Given the description of an element on the screen output the (x, y) to click on. 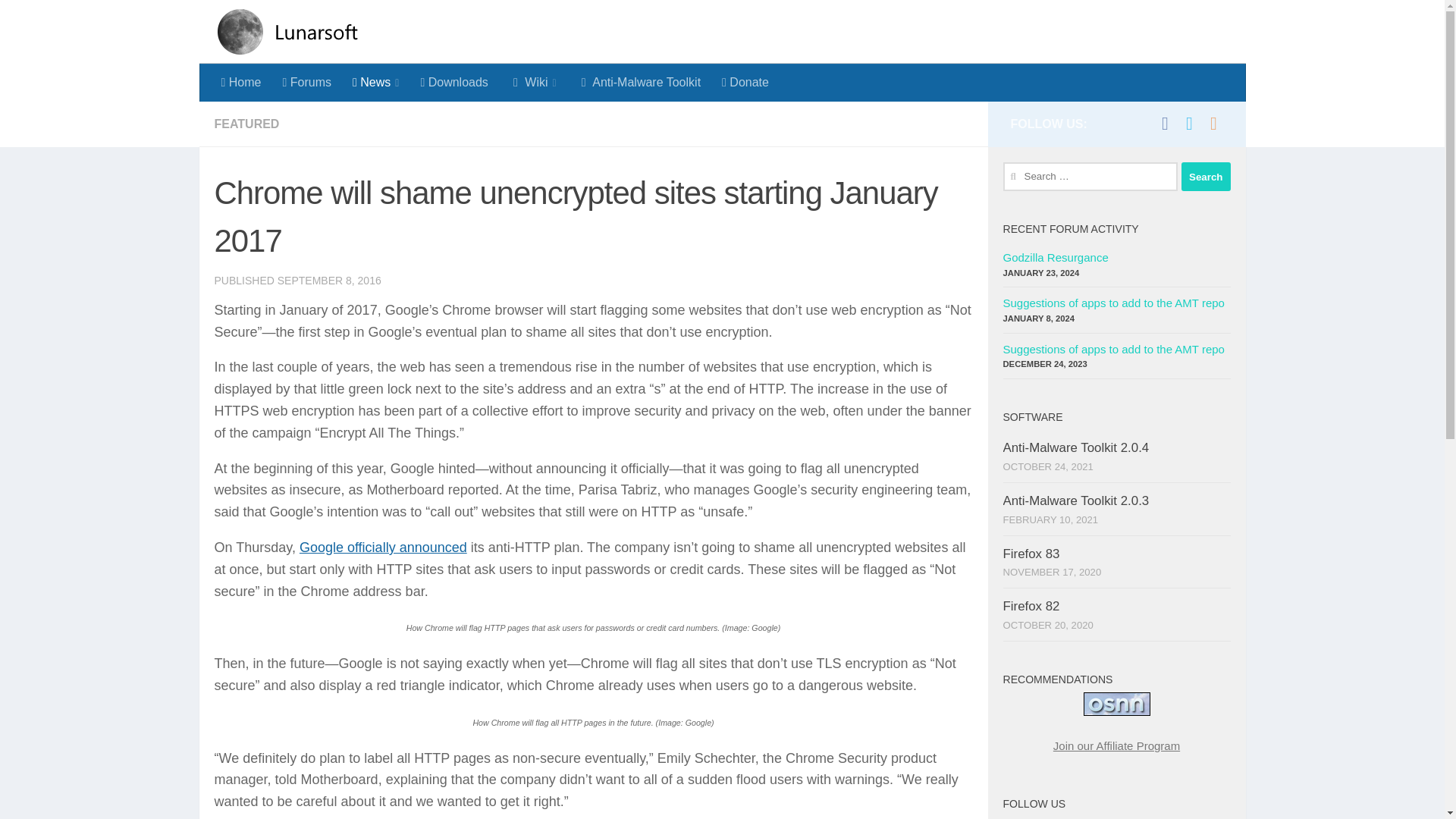
Anti-Malware Toolkit (639, 82)
Forums (306, 82)
FEATURED (246, 123)
Wiki (533, 82)
OSNN - Windows, Linux and Macintosh News (1116, 703)
Google officially announced (383, 547)
Follow us on Twitter-square (1188, 123)
Skip to content (63, 20)
Follow us on Facebook-square (1164, 123)
Donate (744, 82)
Home (241, 82)
Search (1205, 176)
Downloads (453, 82)
Follow our RSS feed (1213, 123)
Search (1205, 176)
